Given the description of an element on the screen output the (x, y) to click on. 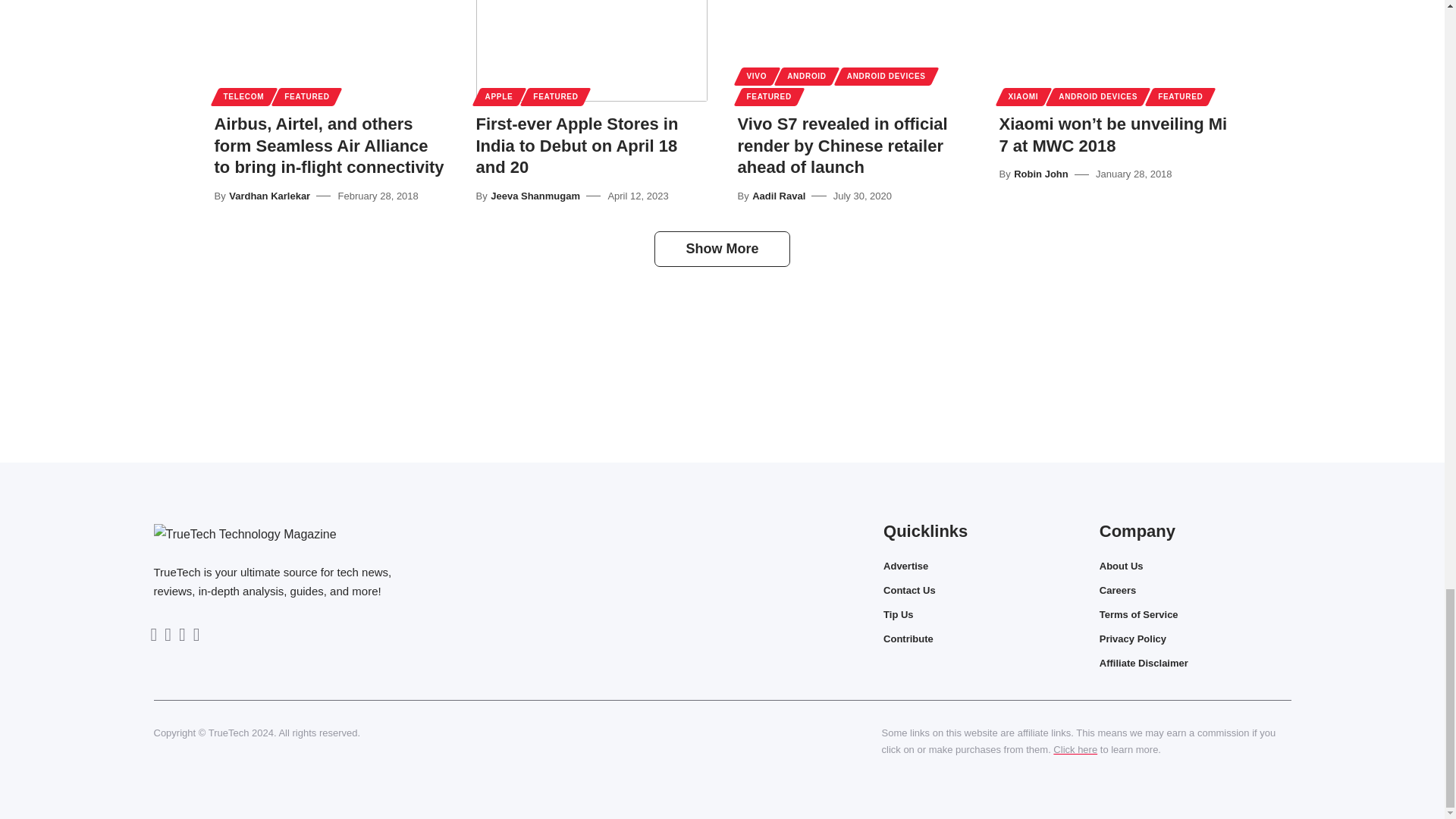
First-ever Apple Stores in India to Debut on April 18 and 20 (591, 50)
